Given the description of an element on the screen output the (x, y) to click on. 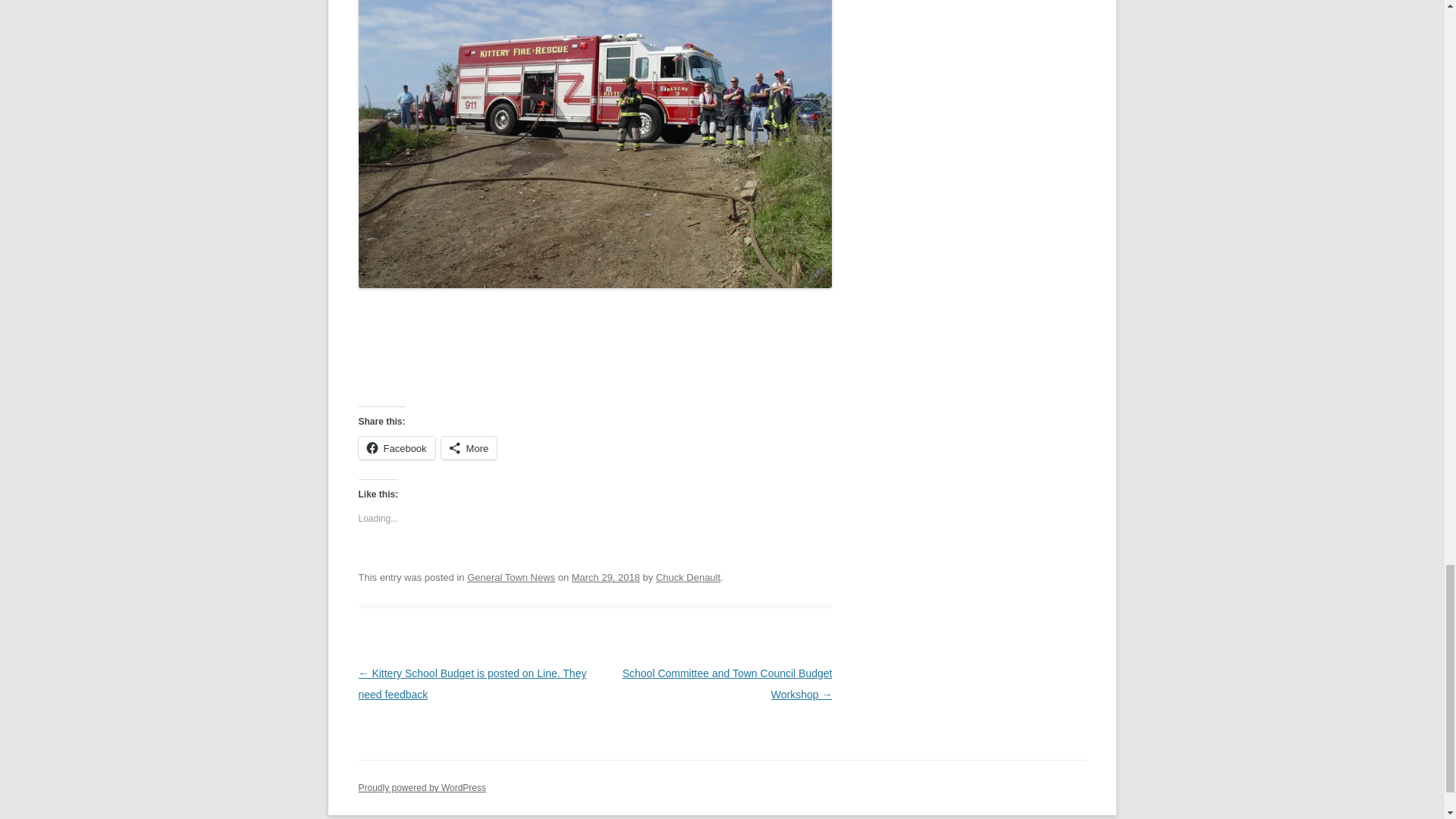
Facebook (395, 447)
View all posts by Chuck Denault (688, 577)
5:02 pm (606, 577)
Semantic Personal Publishing Platform (422, 787)
March 29, 2018 (606, 577)
More (469, 447)
Click to share on Facebook (395, 447)
Chuck Denault (688, 577)
Proudly powered by WordPress (422, 787)
General Town News (510, 577)
